Given the description of an element on the screen output the (x, y) to click on. 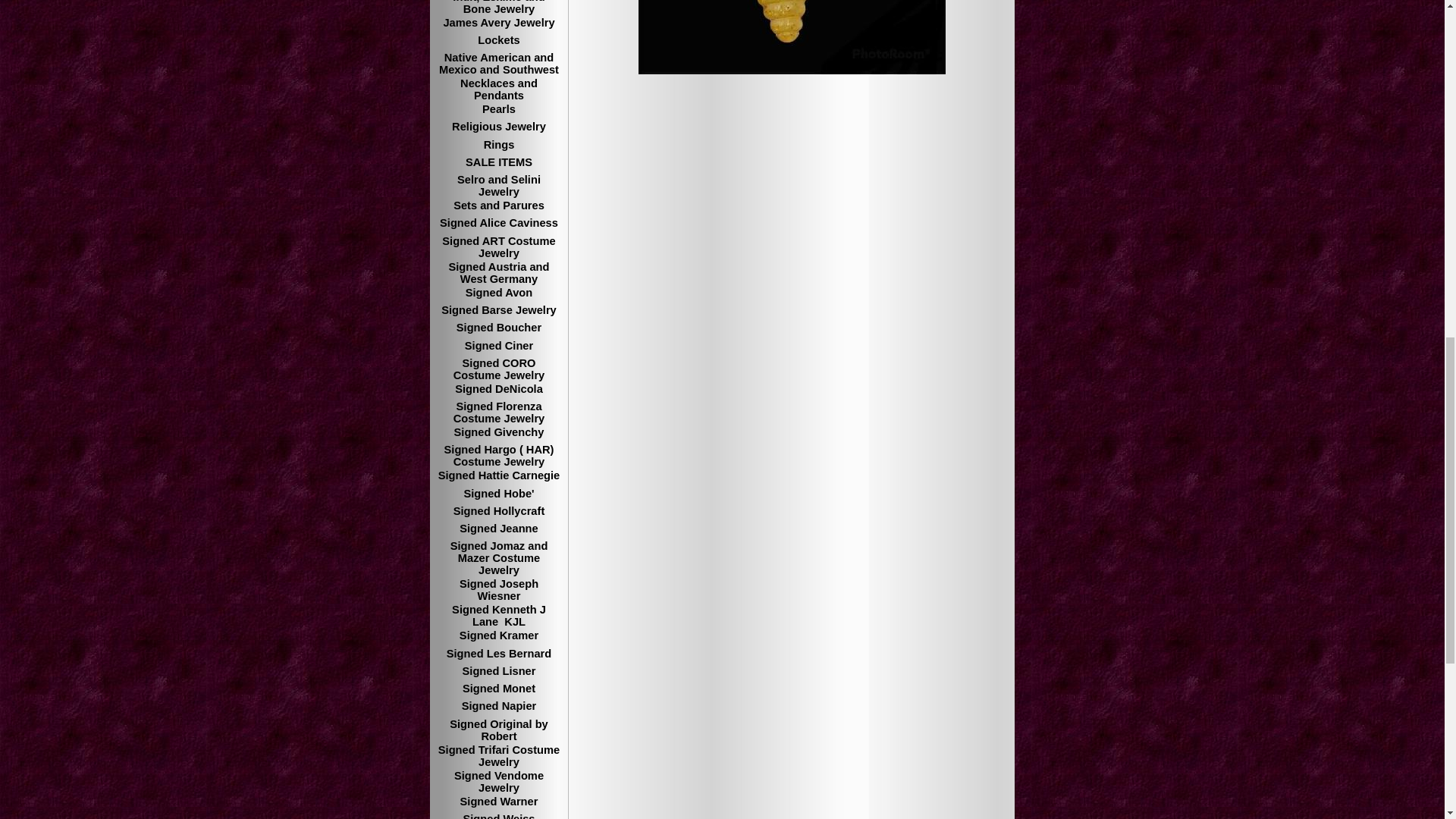
Native American and Mexico and Southwest (499, 63)
James Avery Jewelry (499, 24)
Inuit, Eskimo and Bone Jewelry (499, 7)
Lockets (499, 41)
